Given the description of an element on the screen output the (x, y) to click on. 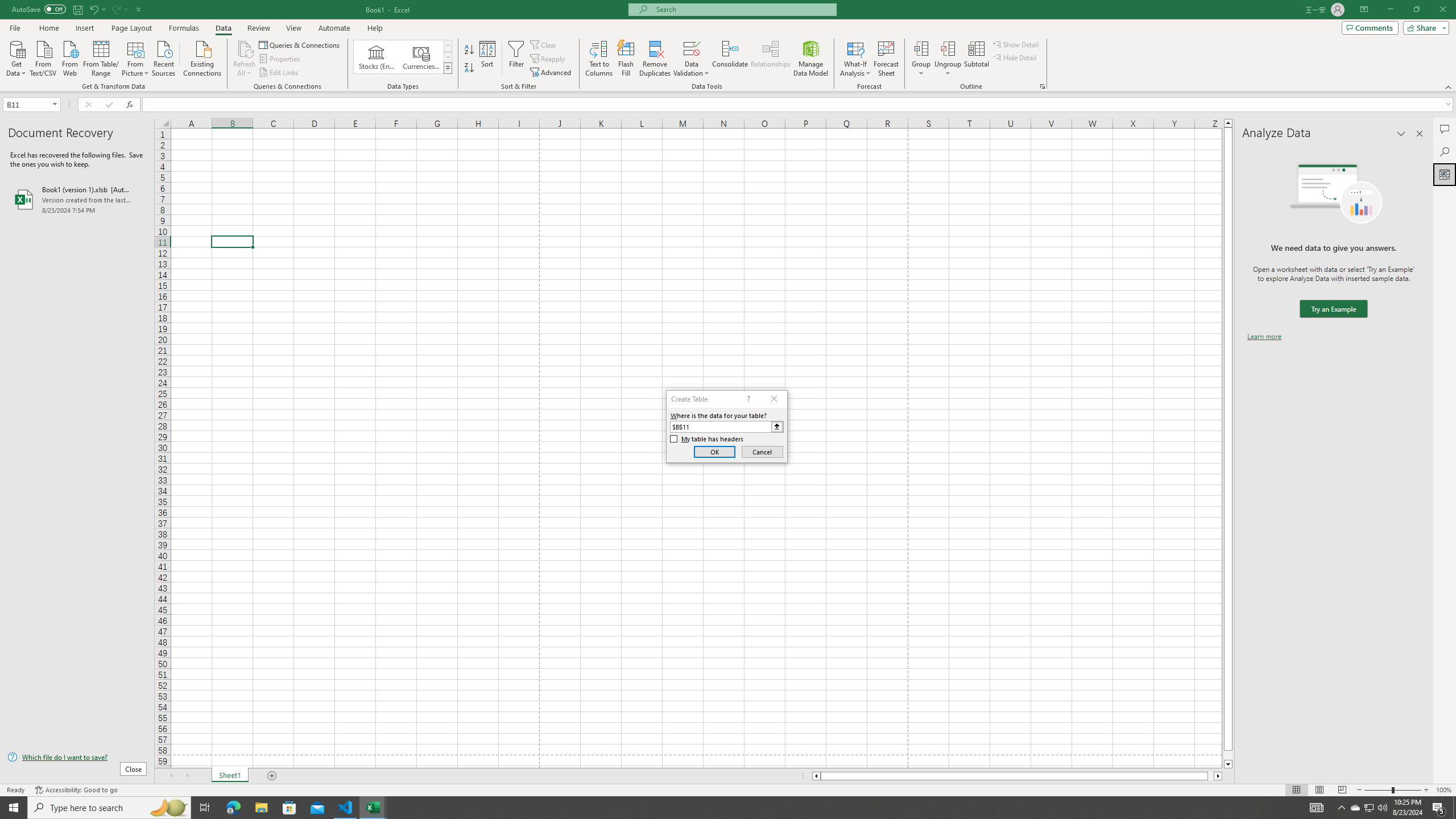
Sort Z to A (469, 67)
